Given the description of an element on the screen output the (x, y) to click on. 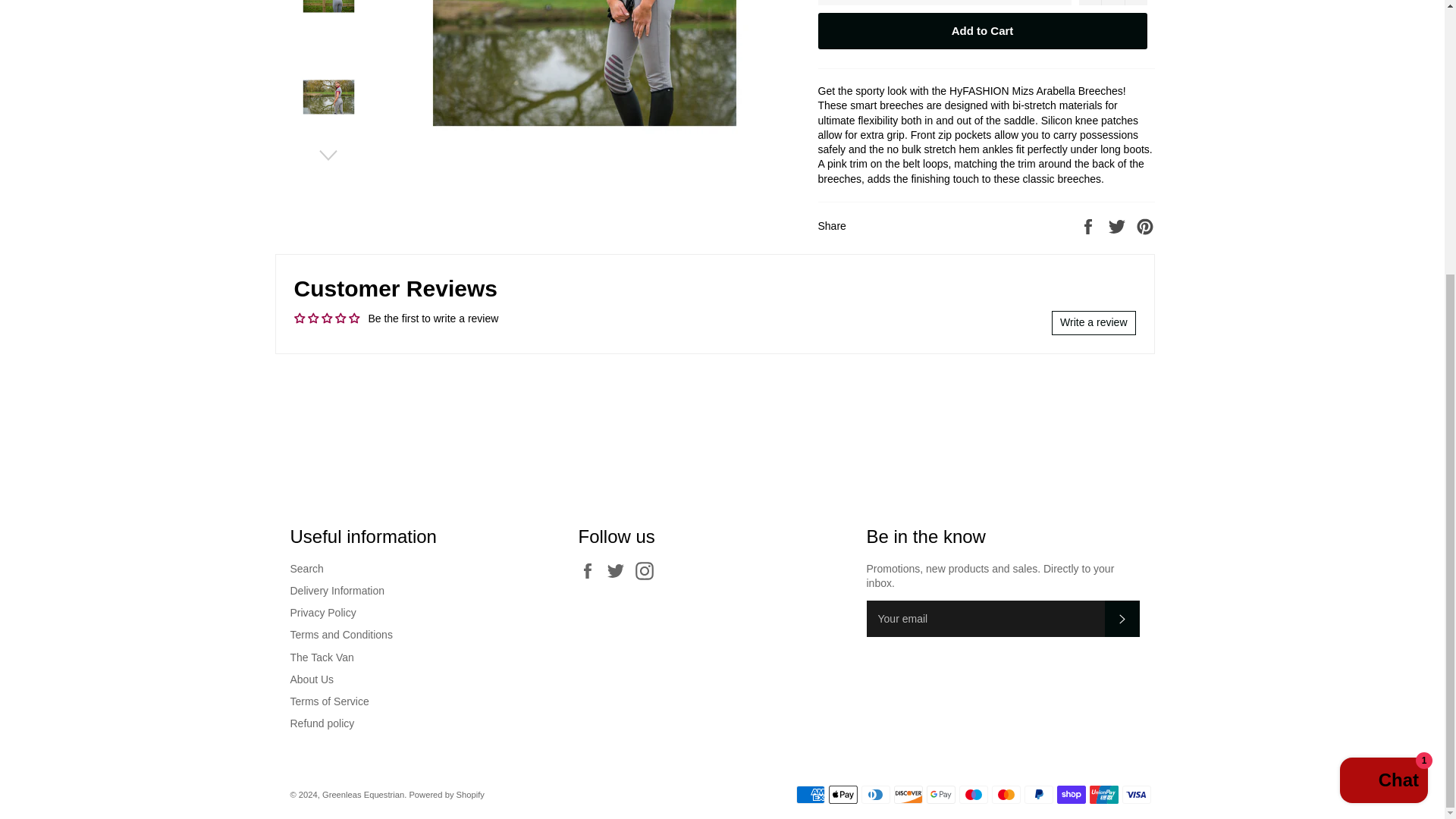
Tweet on Twitter (1118, 225)
Greenleas Equestrian on Twitter (619, 570)
Greenleas Equestrian on Instagram (647, 570)
Shopify online store chat (1383, 377)
1 (1112, 2)
Greenleas Equestrian on Facebook (591, 570)
Pin on Pinterest (1144, 225)
Share on Facebook (1089, 225)
